Given the description of an element on the screen output the (x, y) to click on. 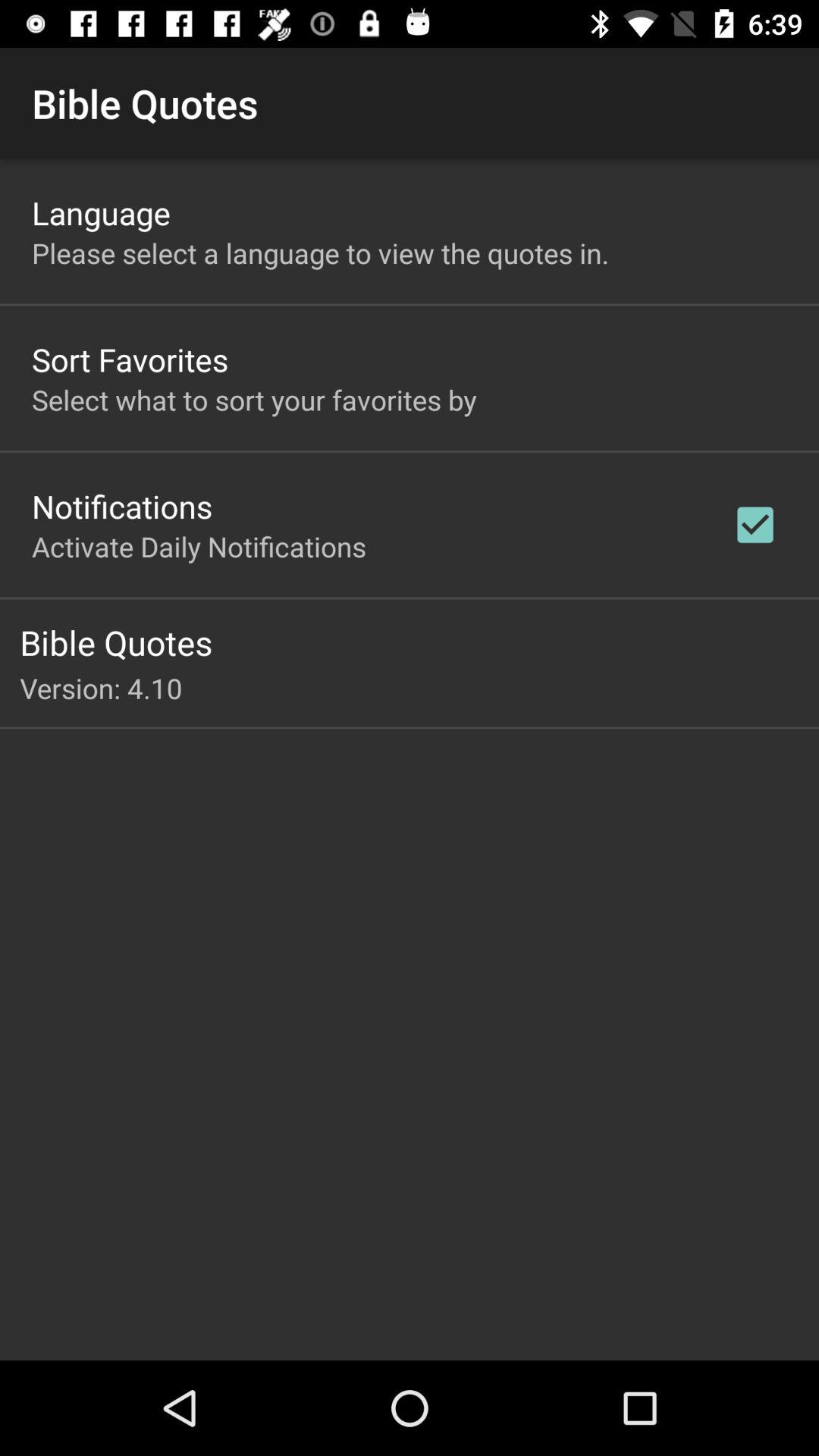
choose the please select a (320, 252)
